Given the description of an element on the screen output the (x, y) to click on. 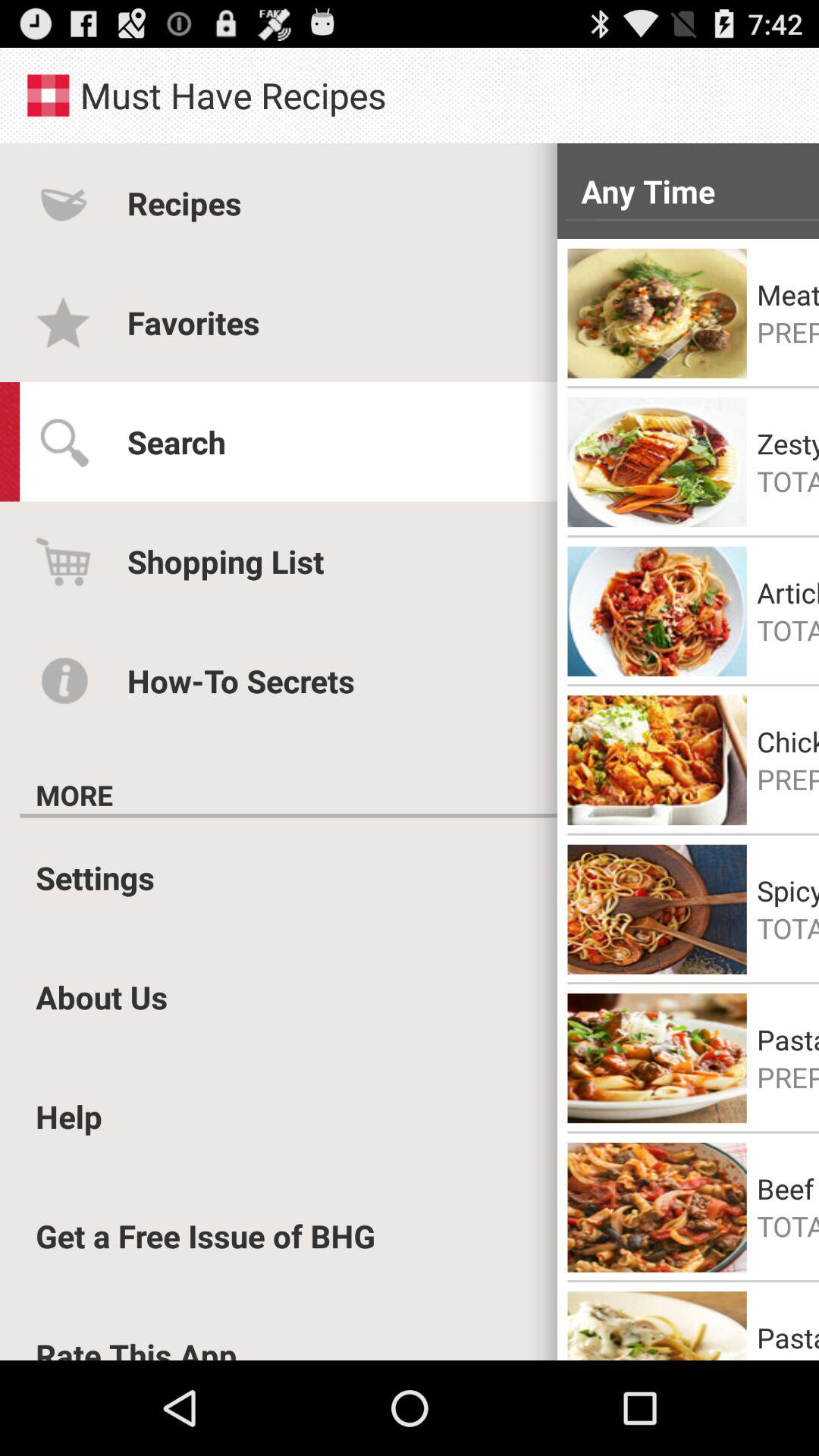
jump until rate this app (136, 1346)
